Given the description of an element on the screen output the (x, y) to click on. 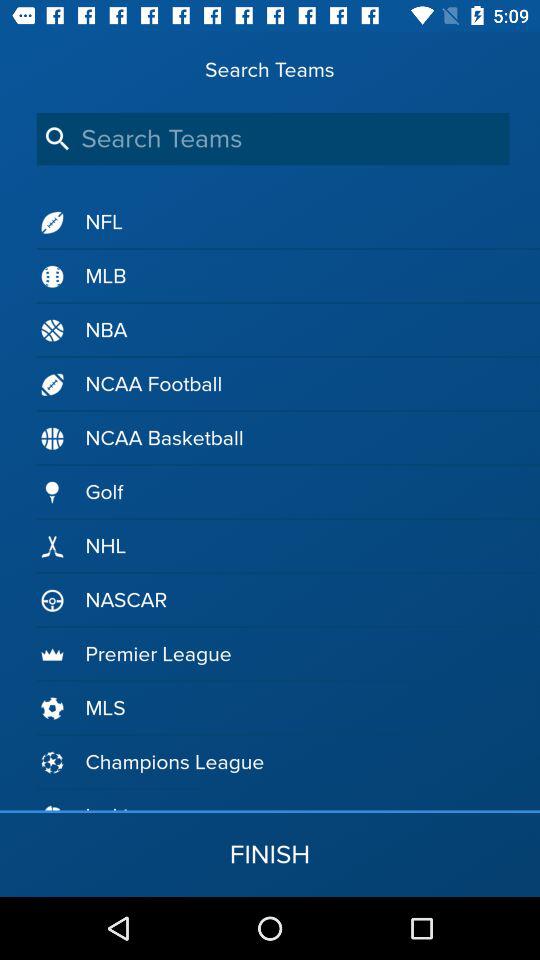
search teams (272, 138)
